Given the description of an element on the screen output the (x, y) to click on. 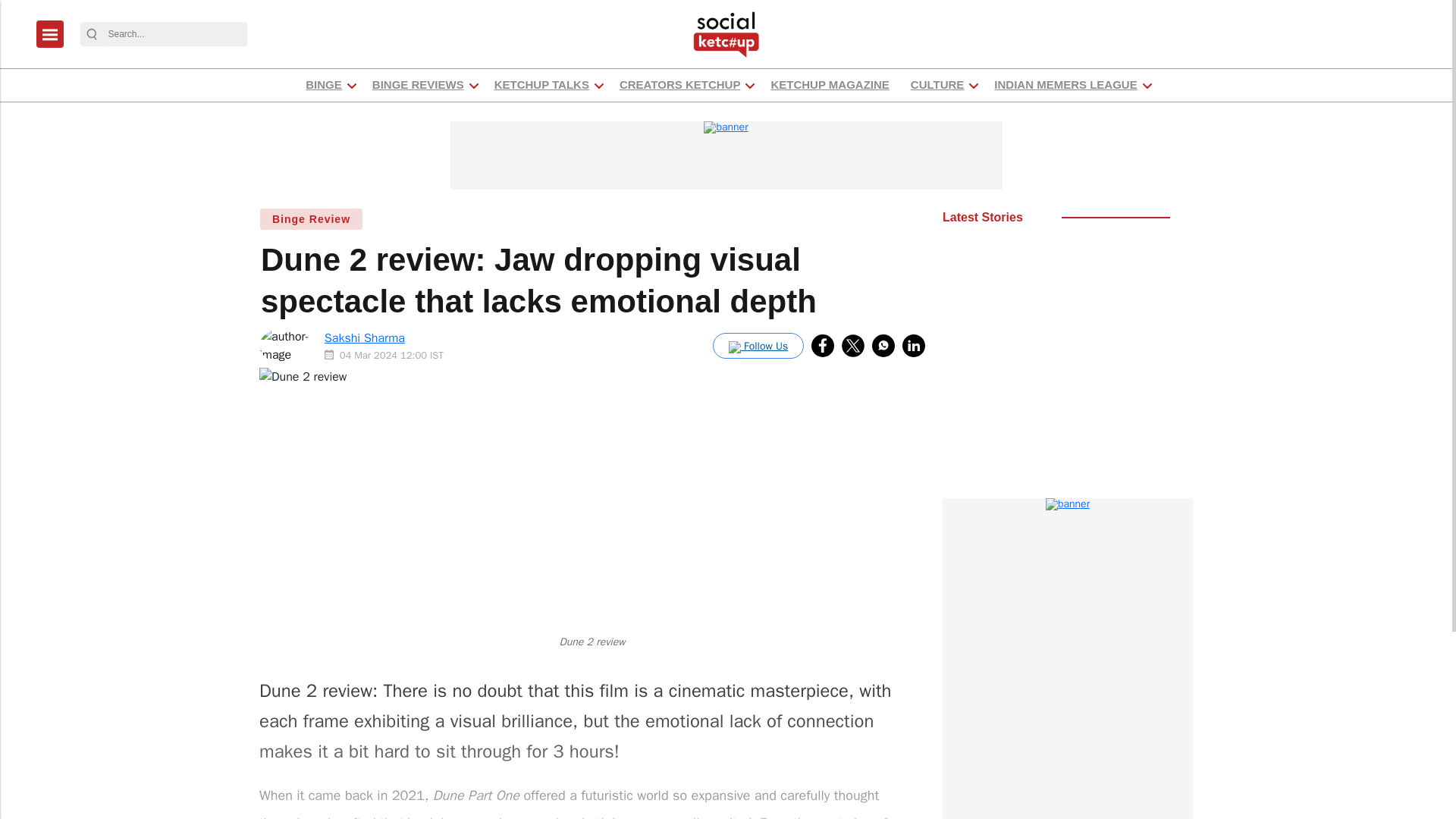
INDIAN MEMERS LEAGUE (1064, 84)
BINGE (323, 84)
CREATORS KETCHUP (679, 84)
BINGE REVIEWS (417, 84)
KETCHUP MAGAZINE (829, 84)
CULTURE (937, 84)
KETCHUP TALKS (541, 84)
